Given the description of an element on the screen output the (x, y) to click on. 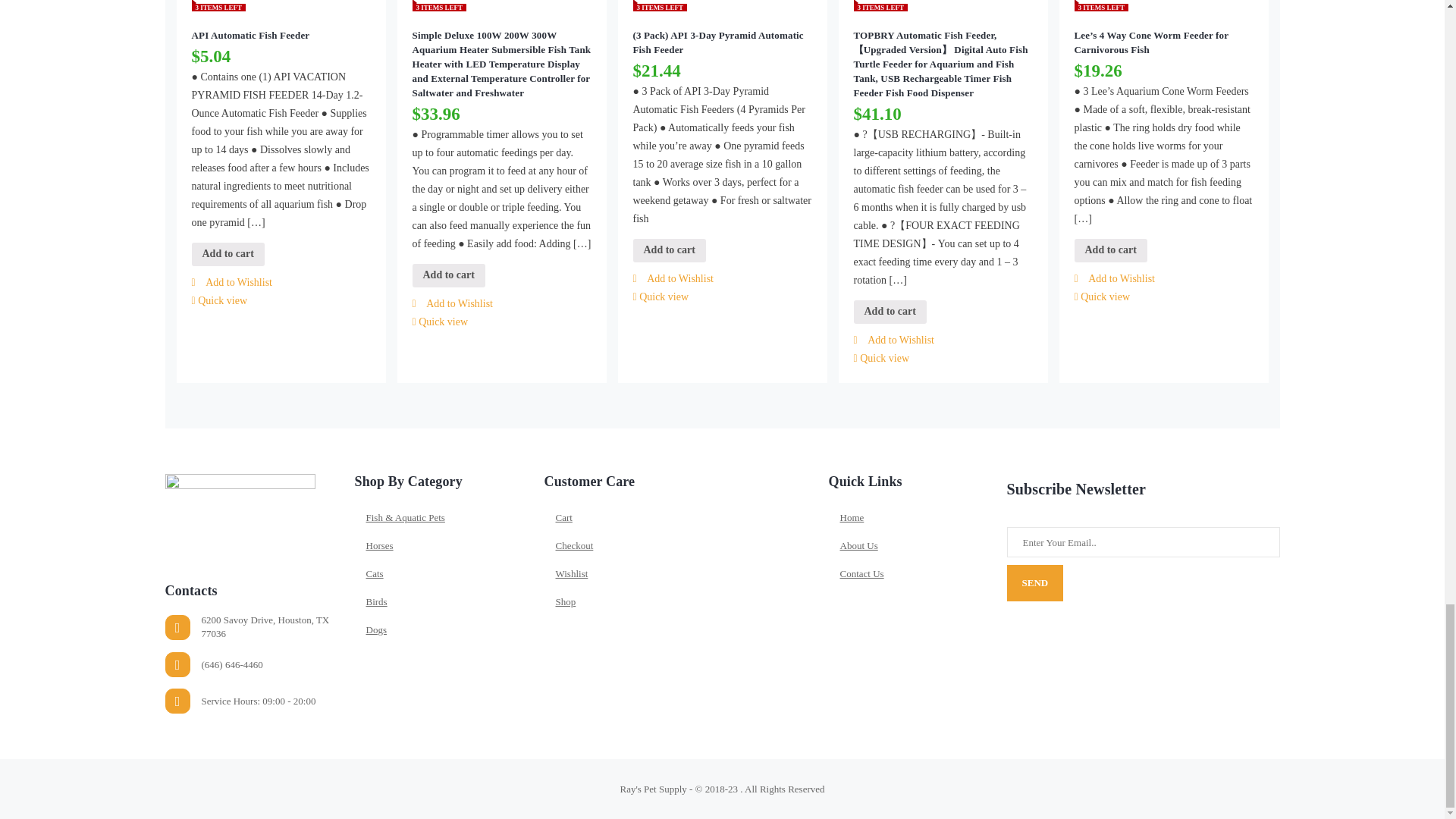
SEND (1035, 583)
API Automatic Fish Feeder (279, 35)
